Given the description of an element on the screen output the (x, y) to click on. 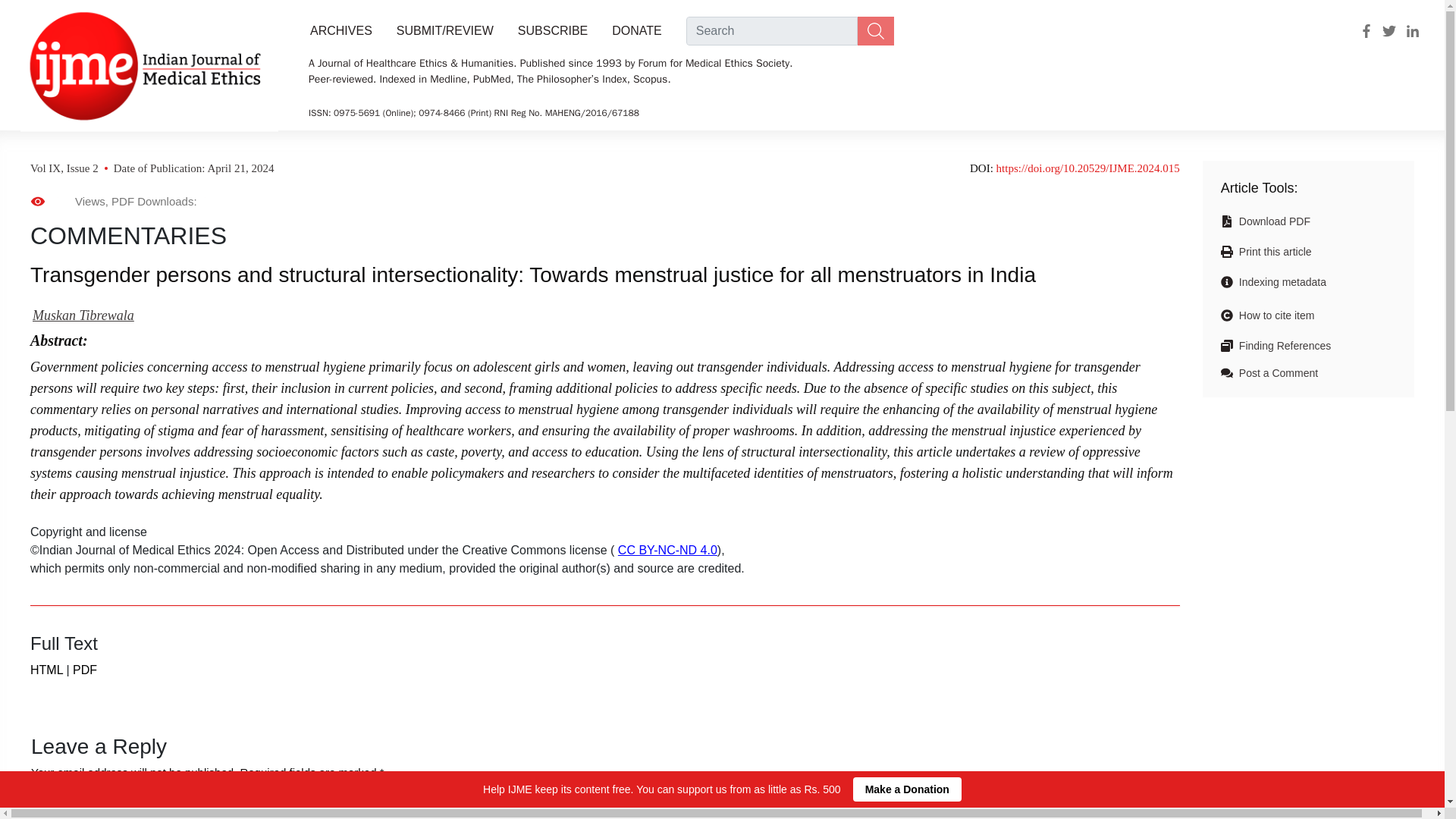
DONATE (635, 30)
CC BY-NC-ND 4.0 (667, 549)
Post a Comment (1275, 372)
PDF (84, 669)
Donate (635, 30)
Archives (336, 30)
Subscribe (552, 30)
How to cite item (1273, 315)
SUBSCRIBE (552, 30)
Finding References (1281, 345)
Download PDF (1271, 221)
Print this article (1272, 251)
HTML (46, 669)
Indexing metadata (1279, 282)
Make a Donation (906, 788)
